Given the description of an element on the screen output the (x, y) to click on. 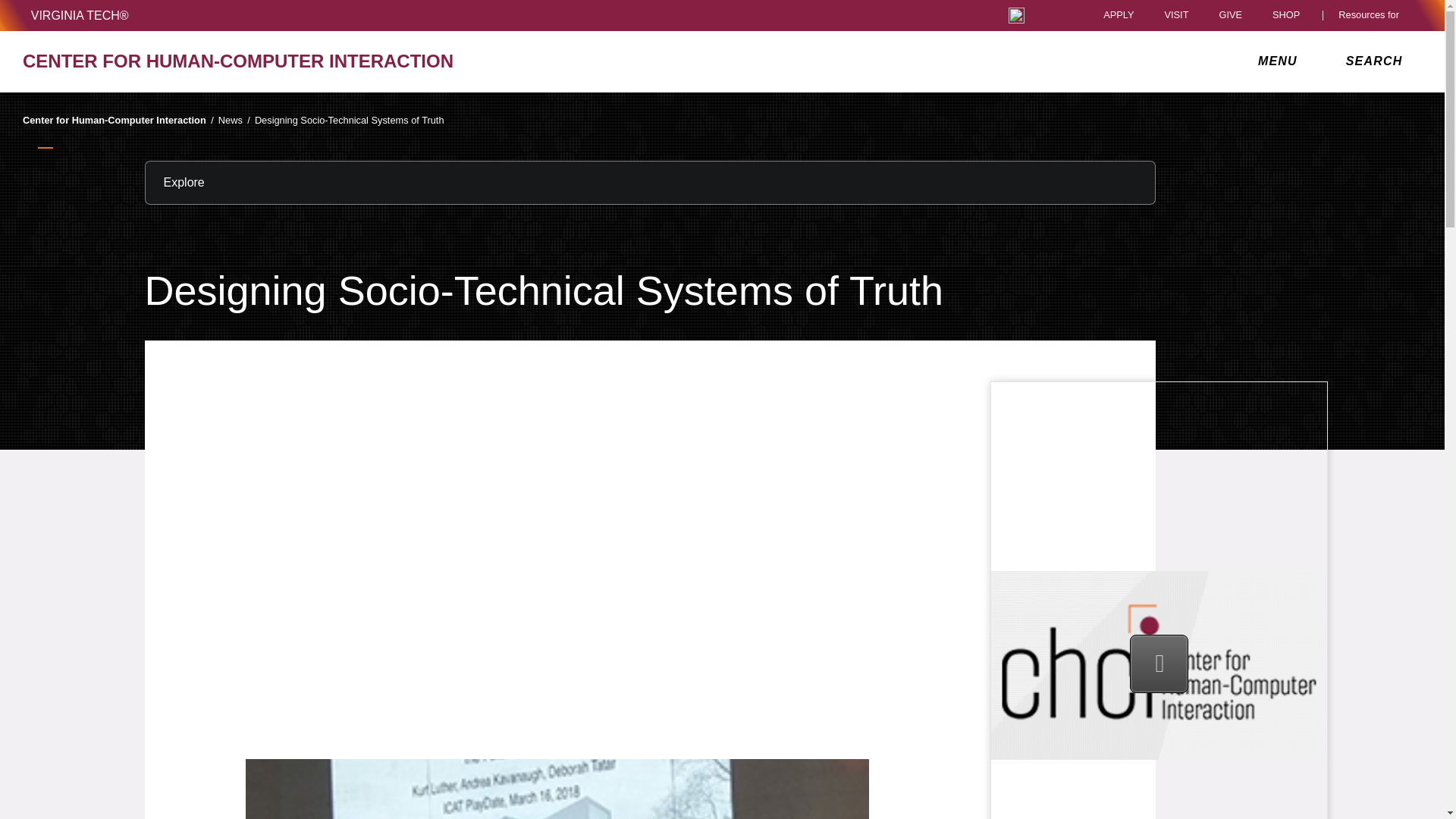
MENU (1280, 61)
VISIT (1175, 15)
SHOP (1289, 15)
APPLY (1118, 15)
GIVE (1229, 15)
CENTER FOR HUMAN-COMPUTER INTERACTION (250, 60)
Resources for (1372, 15)
Universal Access Toggle (1017, 15)
